Given the description of an element on the screen output the (x, y) to click on. 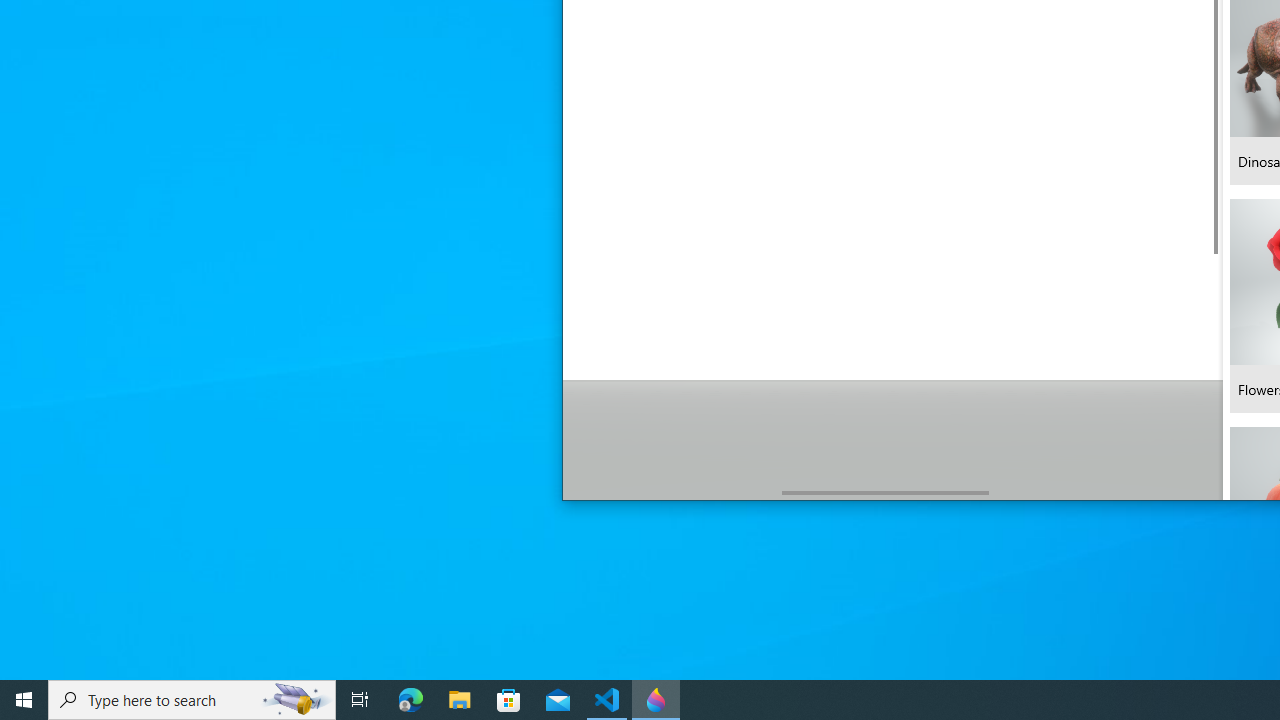
Horizontal Large Decrease (672, 492)
Horizontal Large Increase (1098, 492)
Vertical Large Increase (1215, 369)
Horizontal (885, 492)
Paint 3D - 1 running window (656, 699)
